Given the description of an element on the screen output the (x, y) to click on. 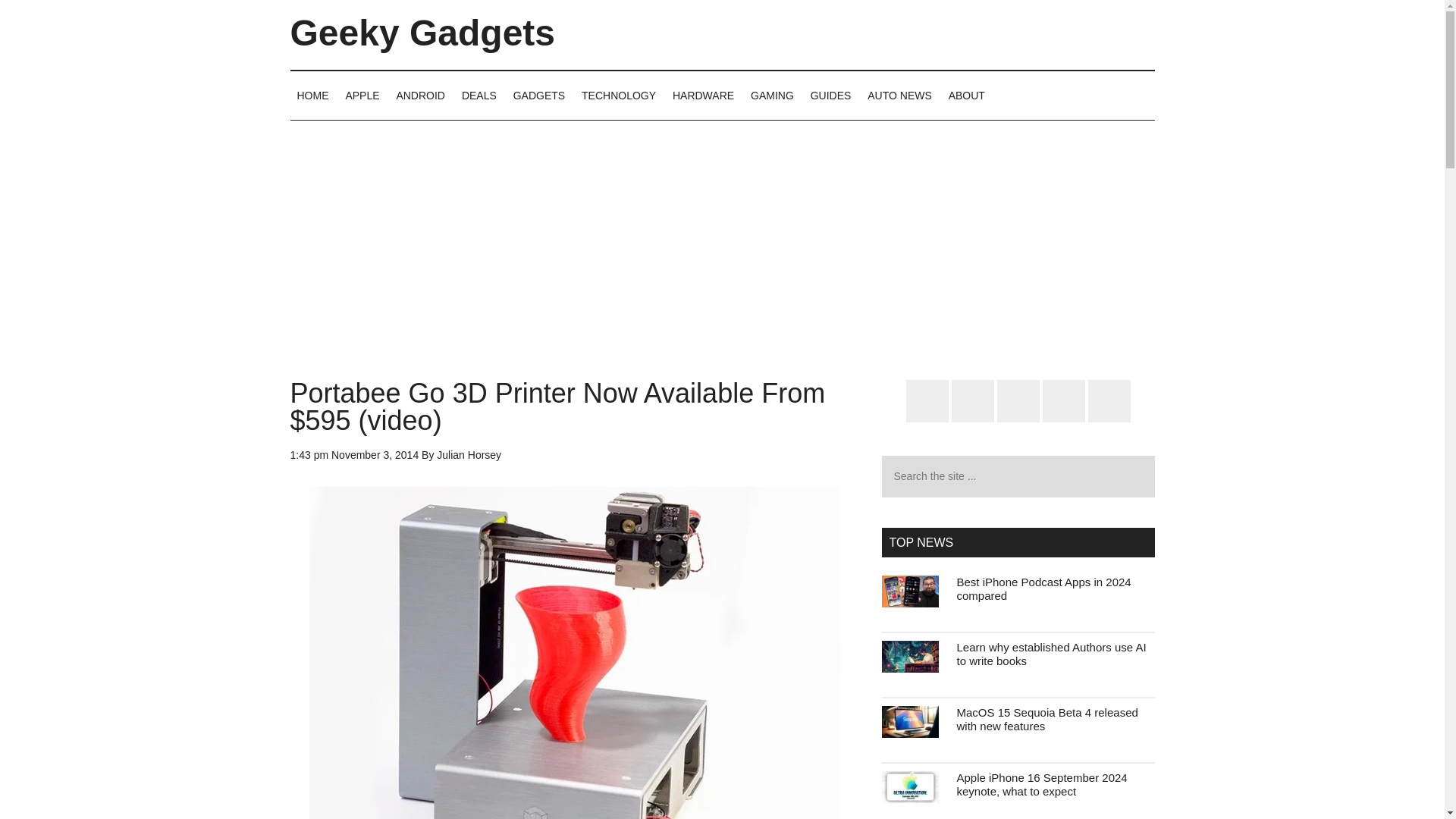
ANDROID (419, 95)
Julian Horsey (468, 454)
Best iPhone Podcast Apps in 2024 compared (1043, 588)
Learn why established Authors use AI to write books (1051, 653)
Geeky Gadgets (421, 33)
APPLE (361, 95)
ABOUT (966, 95)
GUIDES (831, 95)
About Geeky Gadgets (966, 95)
GADGETS (539, 95)
MacOS 15 Sequoia Beta 4 released with new features (1047, 718)
GAMING (772, 95)
